Given the description of an element on the screen output the (x, y) to click on. 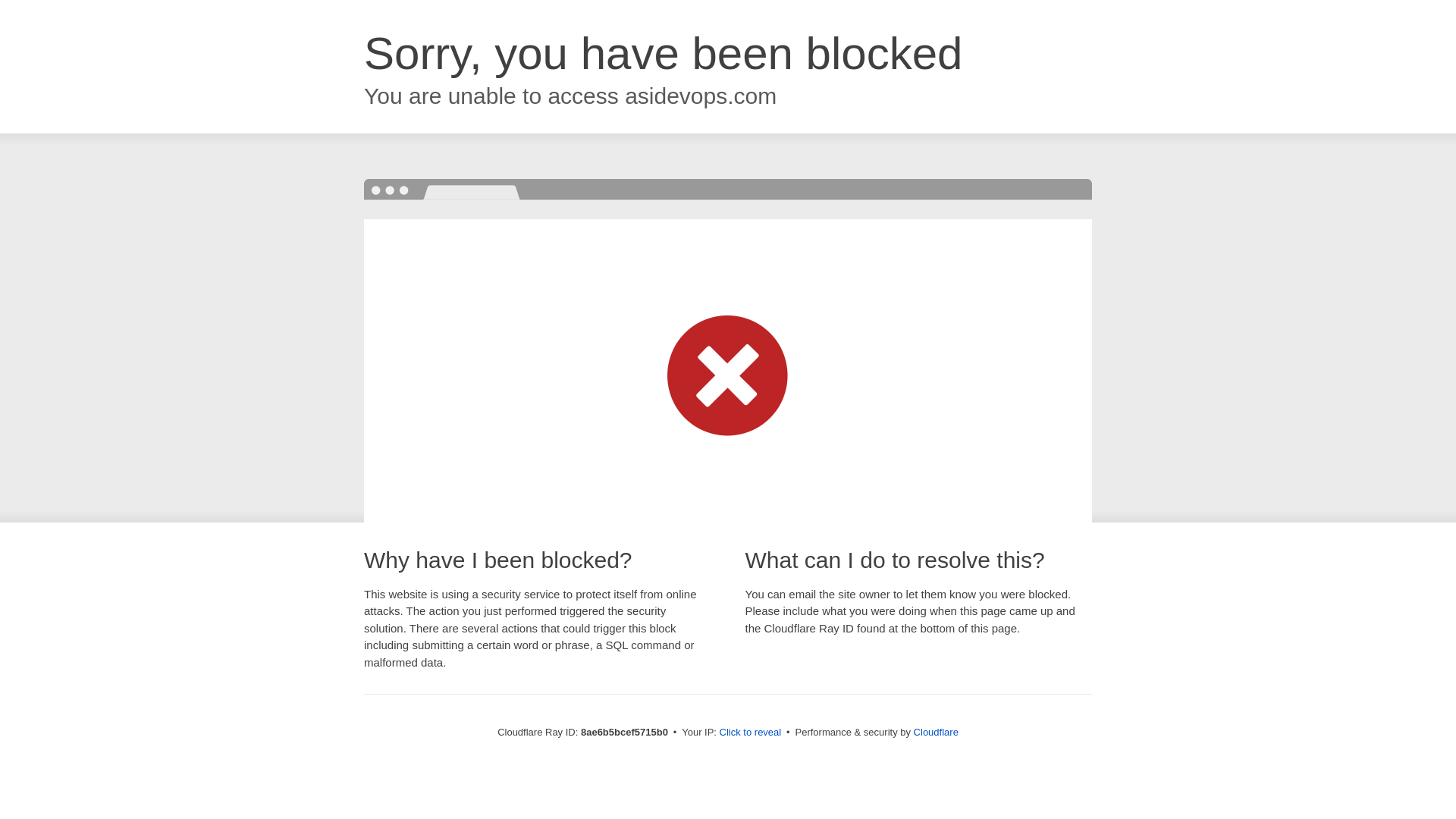
Cloudflare (936, 731)
Click to reveal (750, 732)
